Given the description of an element on the screen output the (x, y) to click on. 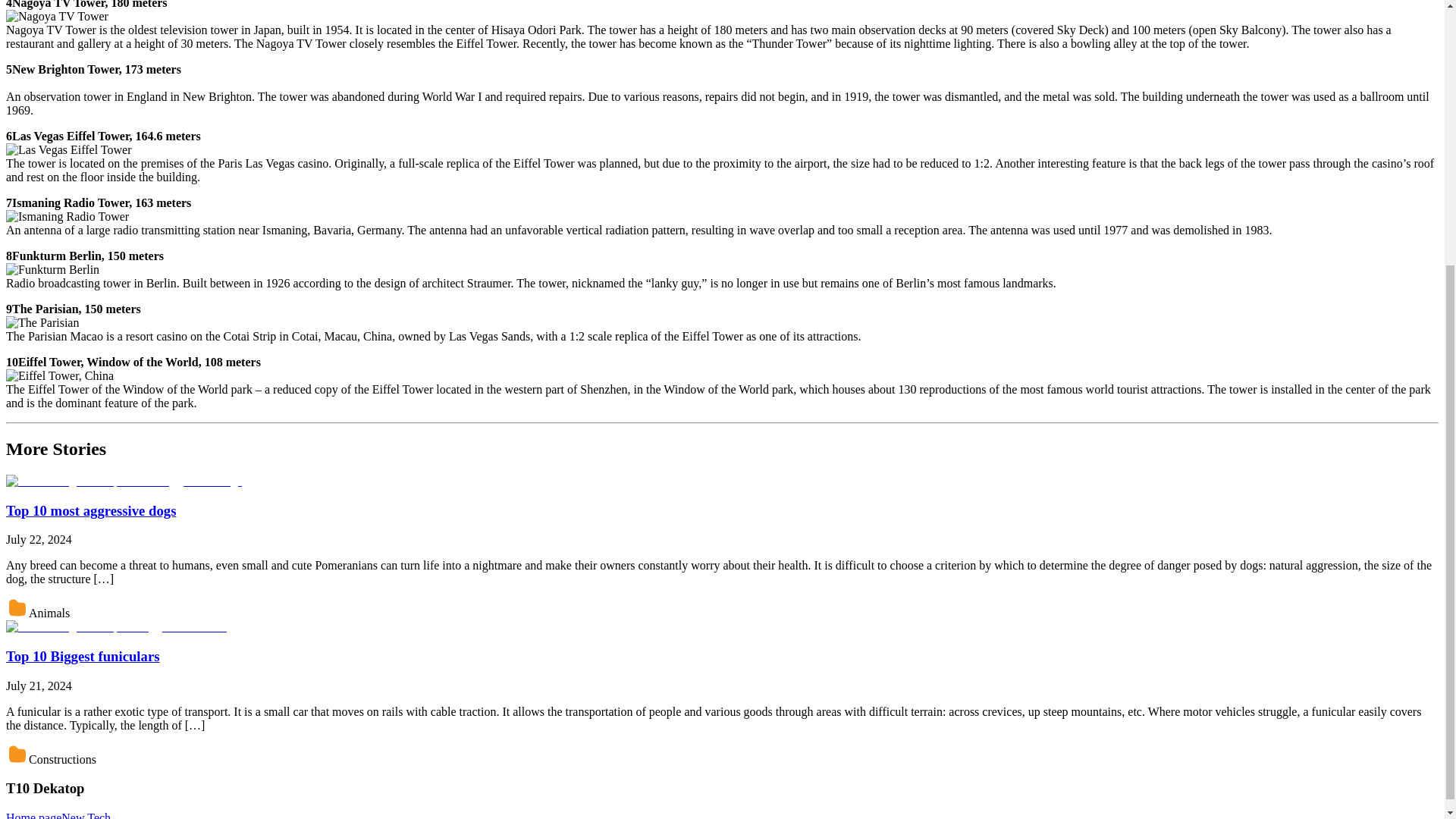
Nagoya TV Tower (56, 16)
Eiffel Tower, China (59, 376)
Las Vegas Eiffel Tower (68, 150)
Top 10 Biggest funiculars (81, 656)
Funkturm Berlin (52, 269)
Top 10 most aggressive dogs (90, 510)
Ismaning Radio Tower (67, 216)
The Parisian (41, 323)
